Given the description of an element on the screen output the (x, y) to click on. 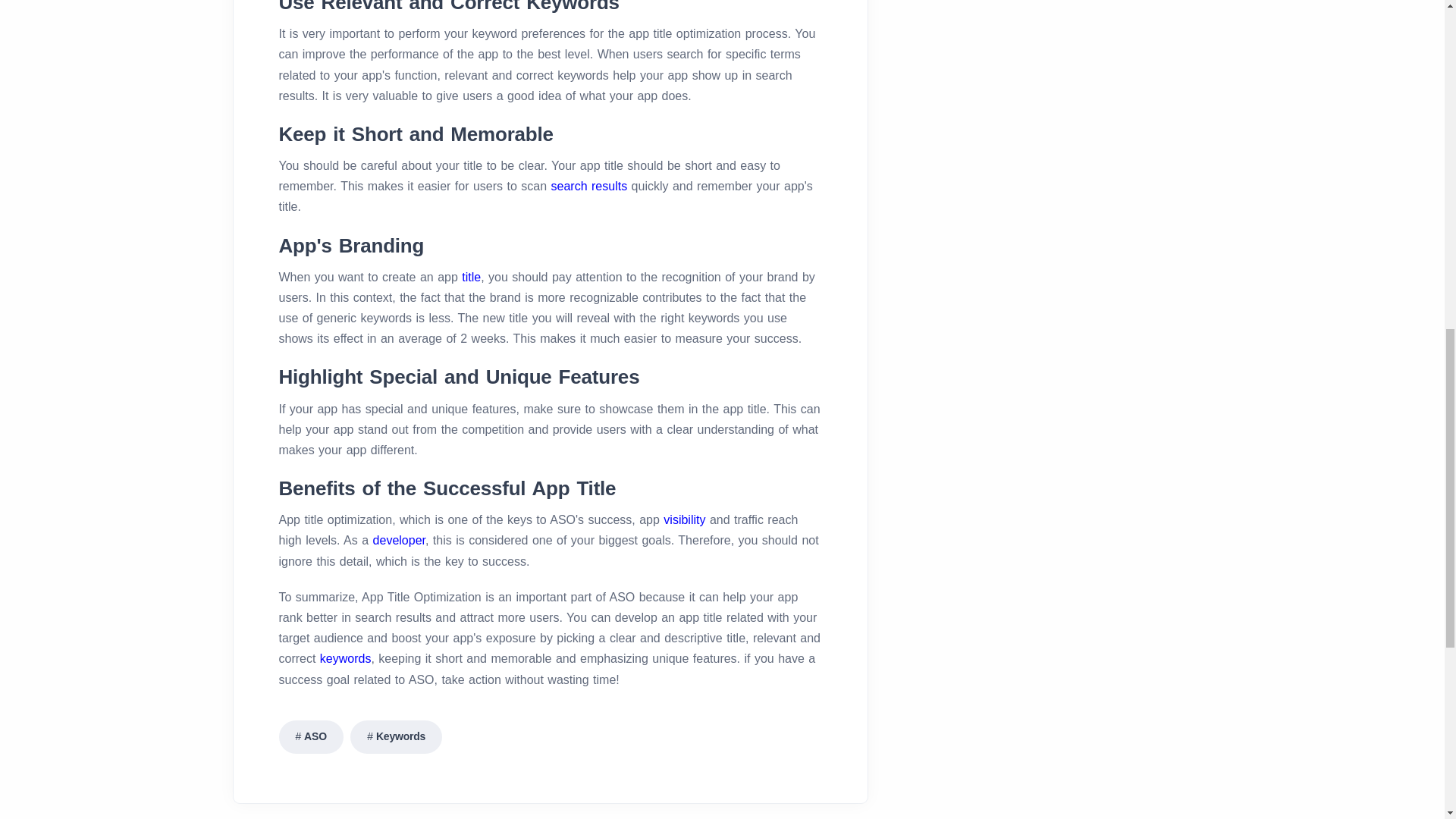
developer (398, 540)
keywords (345, 658)
Keywords (396, 736)
visibility (683, 519)
title (470, 277)
ASO (311, 736)
search results (589, 185)
